Given the description of an element on the screen output the (x, y) to click on. 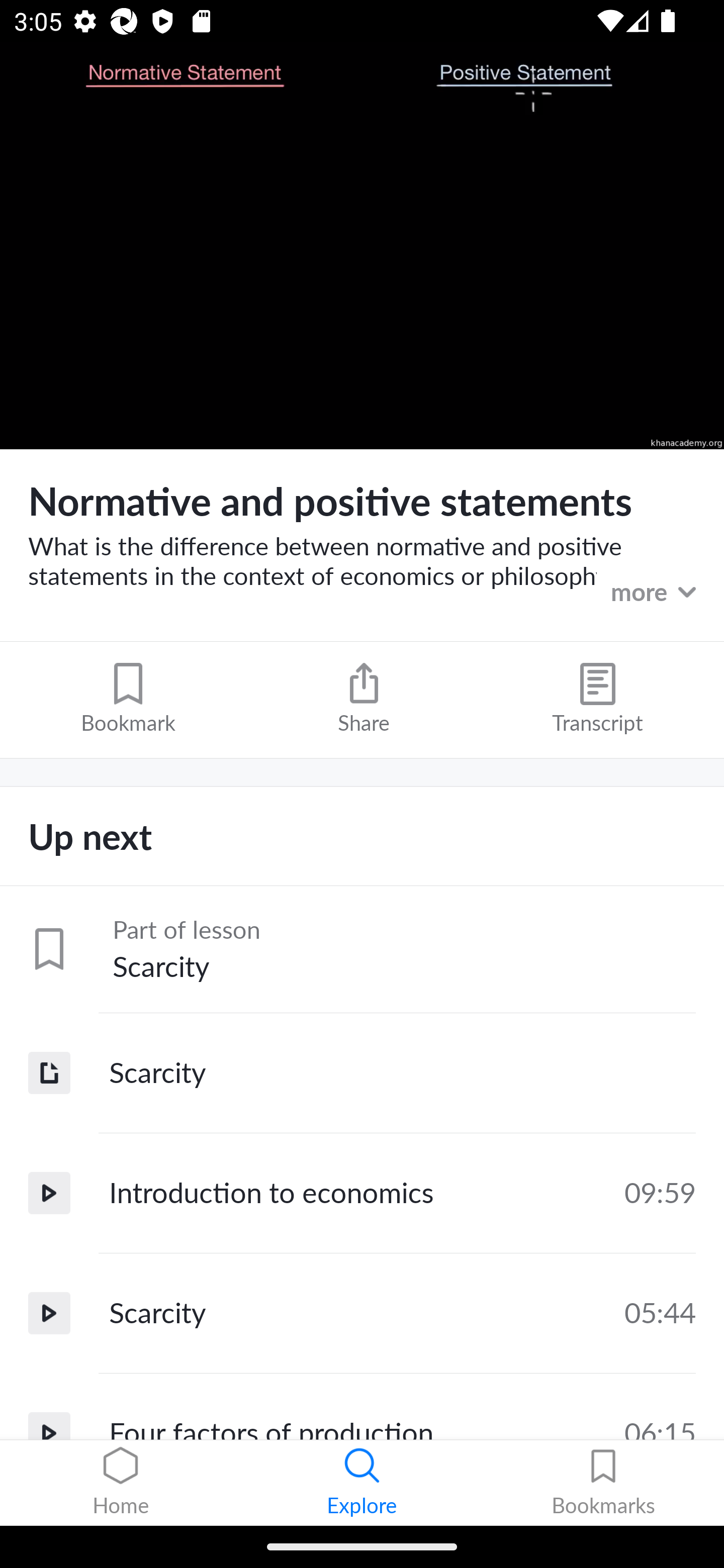
Toggle control visibility (362, 246)
Bookmark (128, 699)
Share (363, 699)
Transcript (596, 699)
Part of lesson Scarcity (362, 948)
Scarcity (362, 1072)
Introduction to economics 09:59 (362, 1192)
Scarcity 05:44 (362, 1312)
Home (120, 1482)
Explore (361, 1482)
Bookmarks (603, 1482)
